Given the description of an element on the screen output the (x, y) to click on. 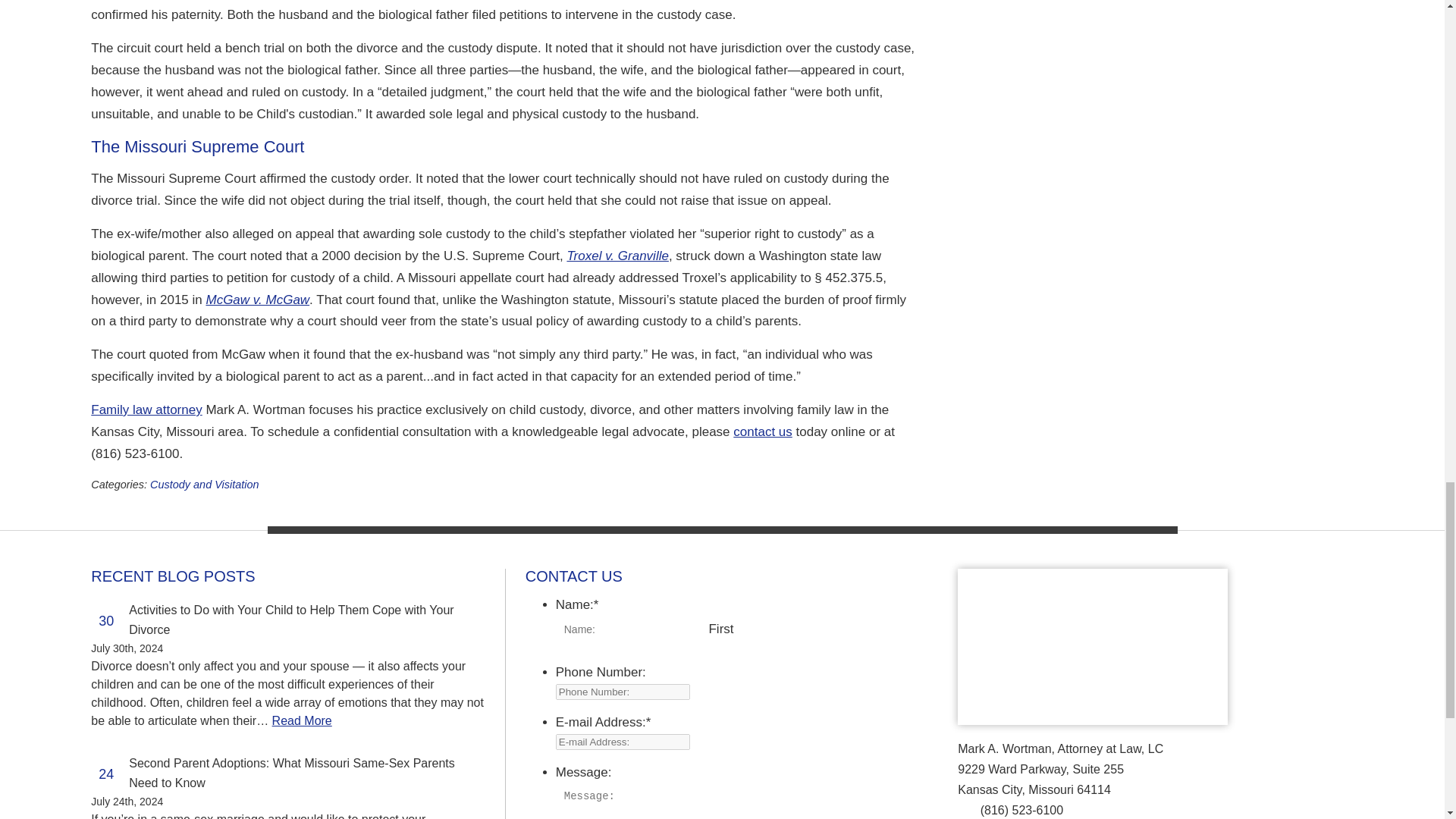
Family law attorney (146, 409)
Custody and Visitation (204, 484)
Click for more Custody and Visitation information (204, 484)
contact us (762, 431)
McGaw v. McGaw (256, 299)
Troxel v. Granville (617, 255)
